Given the description of an element on the screen output the (x, y) to click on. 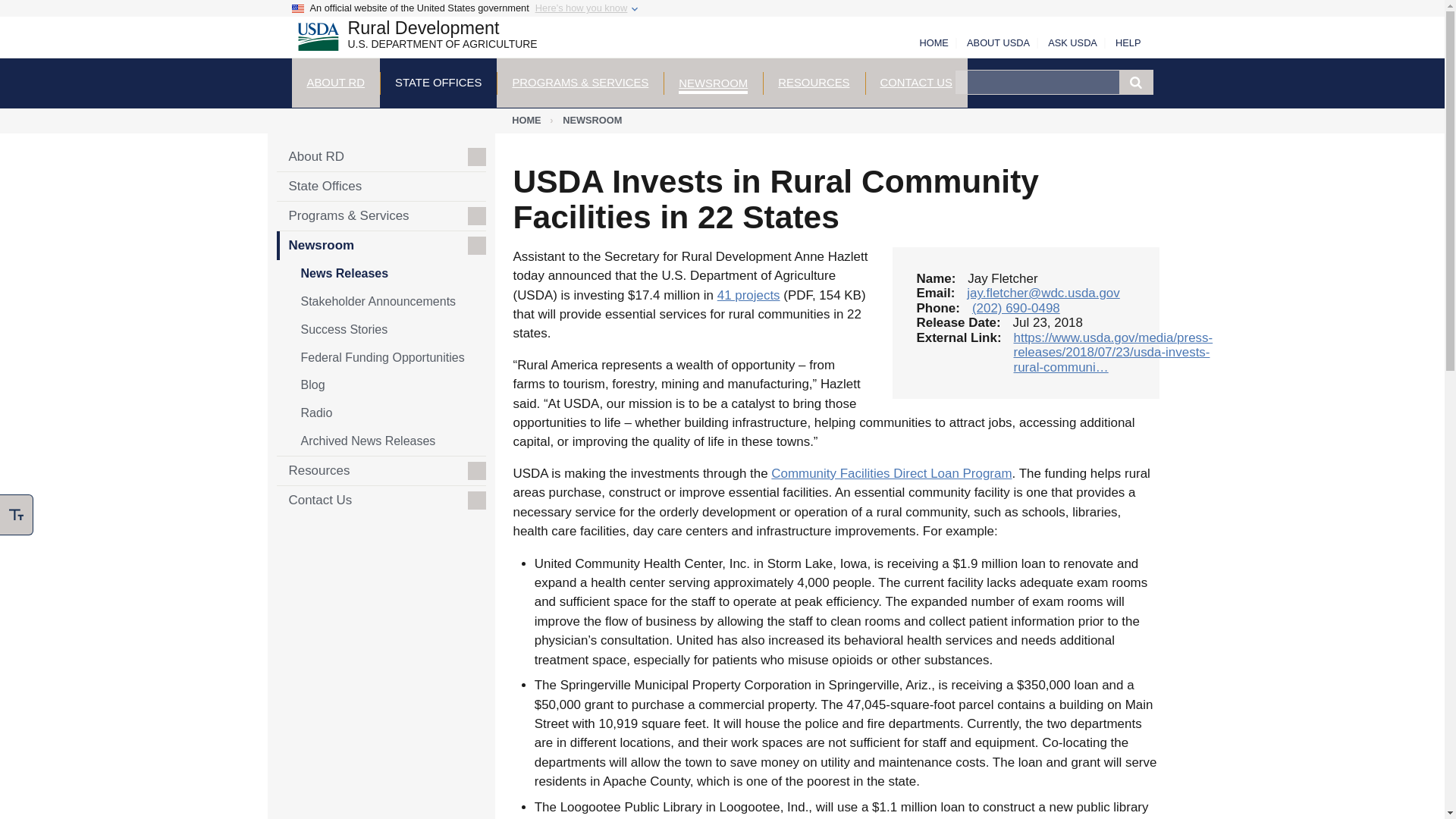
ABOUT RD (335, 82)
Home (410, 38)
Skip to main content (410, 38)
